Given the description of an element on the screen output the (x, y) to click on. 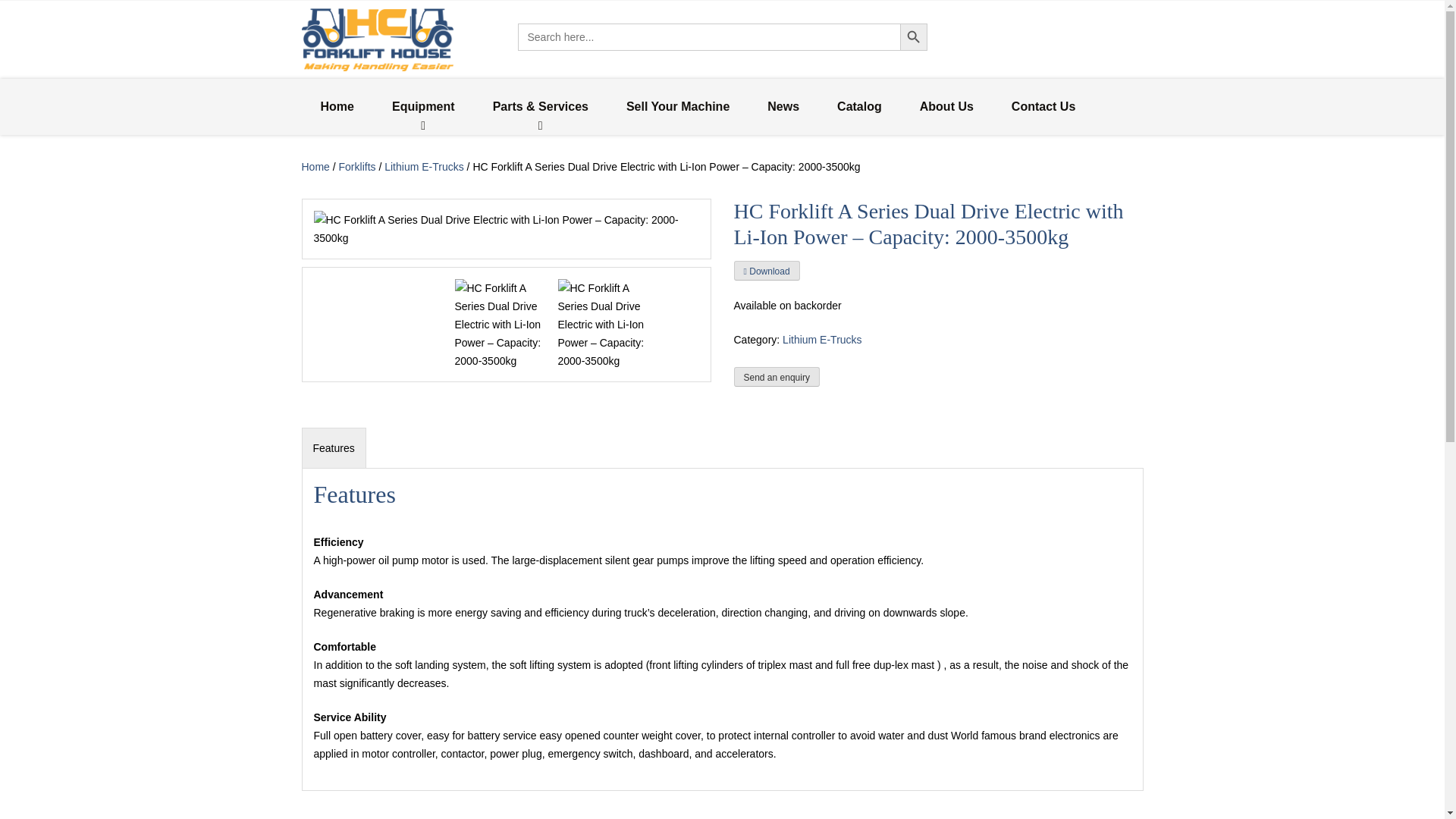
Search Button (912, 36)
Sell Your Machine (677, 106)
Home (315, 166)
Contact Us (1043, 106)
Catalog (859, 106)
Download (766, 270)
Equipment (423, 106)
Forklifts (357, 166)
News (783, 106)
Lithium E-Trucks (424, 166)
About Us (946, 106)
Home (336, 106)
